Given the description of an element on the screen output the (x, y) to click on. 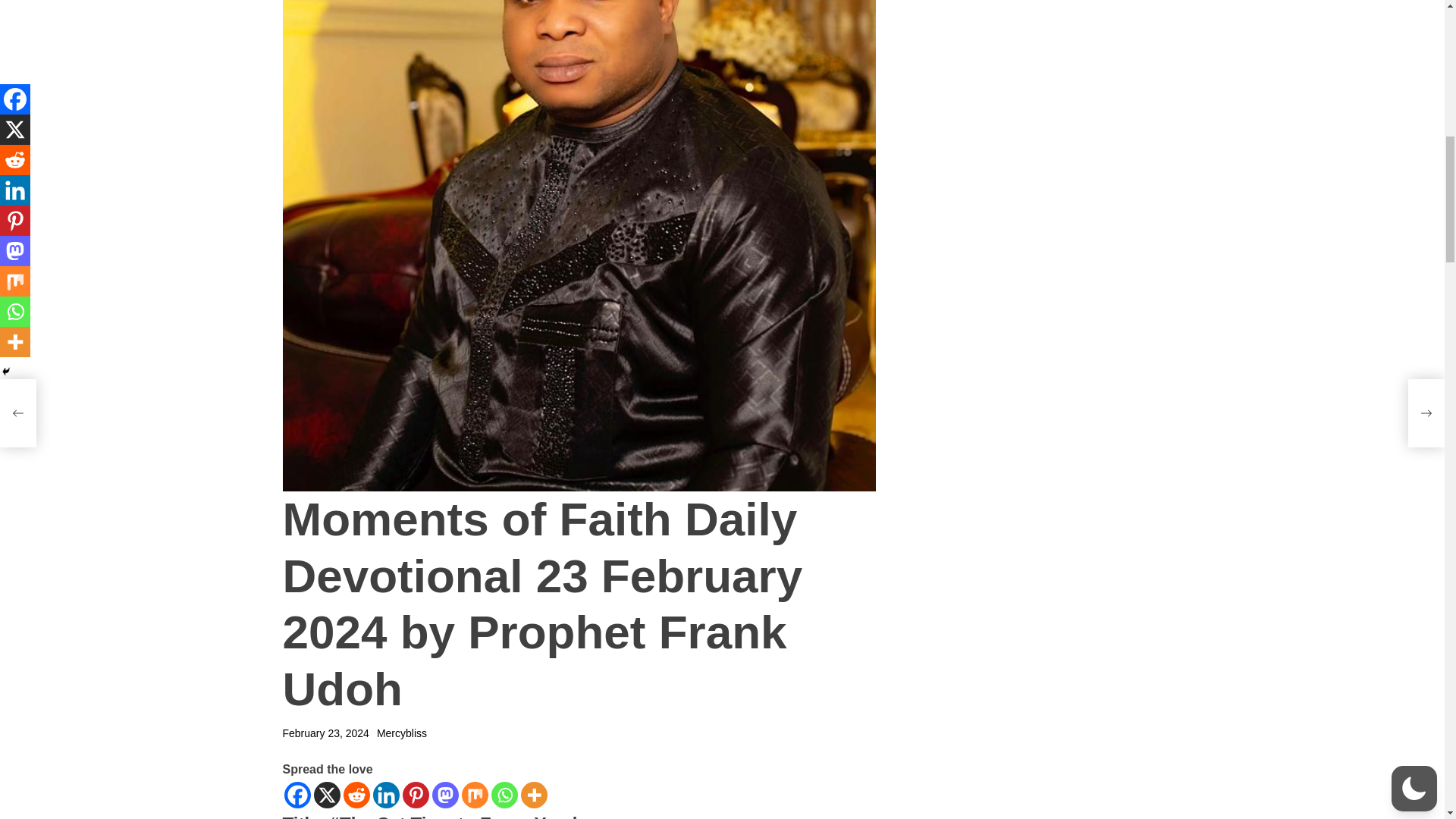
Facebook (296, 795)
Mix (474, 795)
Pinterest (414, 795)
Linkedin (385, 795)
More (533, 795)
Mastodon (445, 795)
X (327, 795)
Reddit (355, 795)
Whatsapp (505, 795)
